Given the description of an element on the screen output the (x, y) to click on. 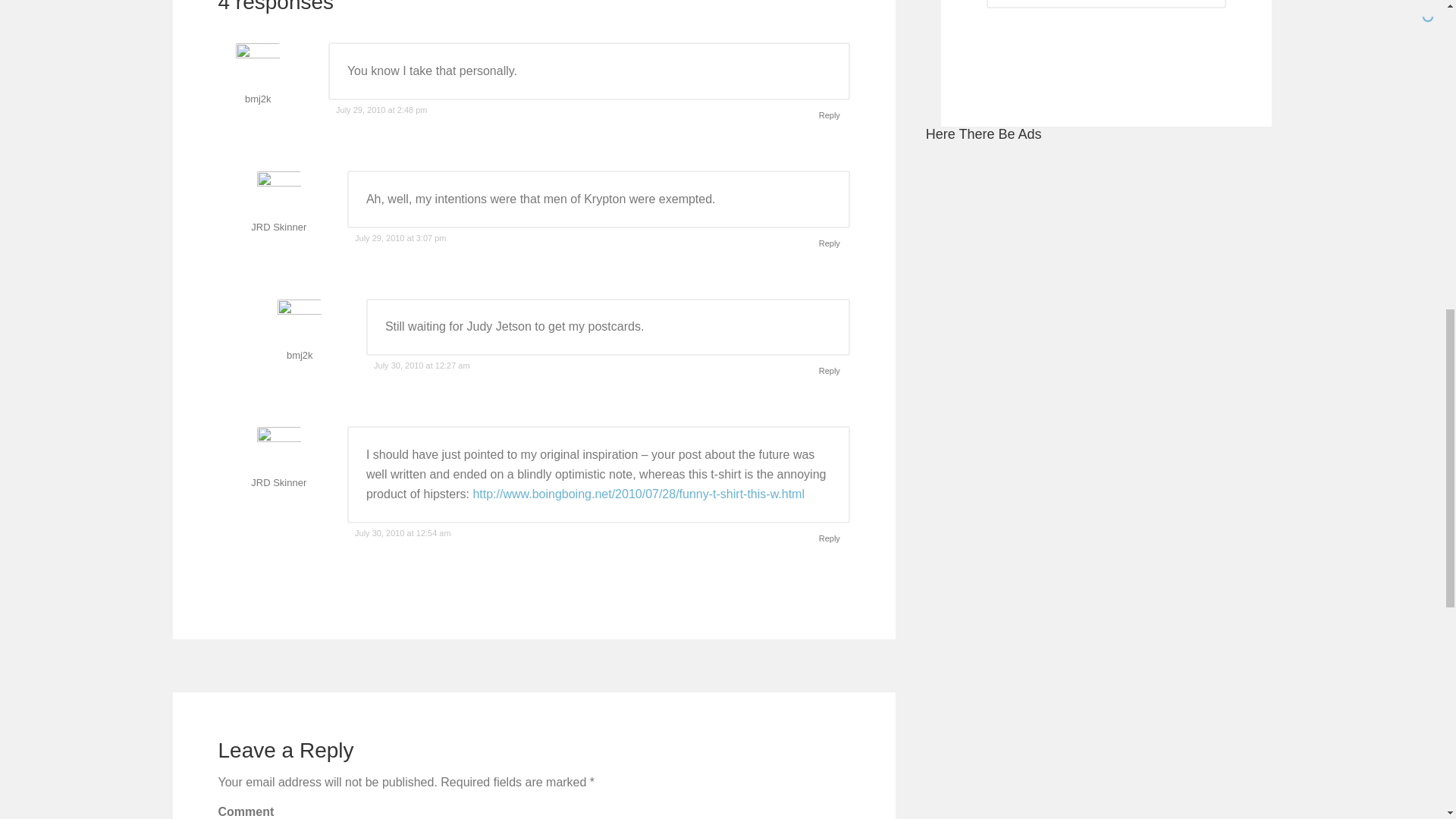
JRD Skinner (277, 226)
Reply (829, 371)
July 29, 2010 at 3:07 pm (400, 237)
July 29, 2010 at 2:48 pm (381, 109)
bmj2k (257, 98)
JRD Skinner (277, 482)
Reply (829, 538)
July 30, 2010 at 12:27 am (422, 365)
Reply (829, 243)
July 30, 2010 at 12:54 am (403, 532)
